Given the description of an element on the screen output the (x, y) to click on. 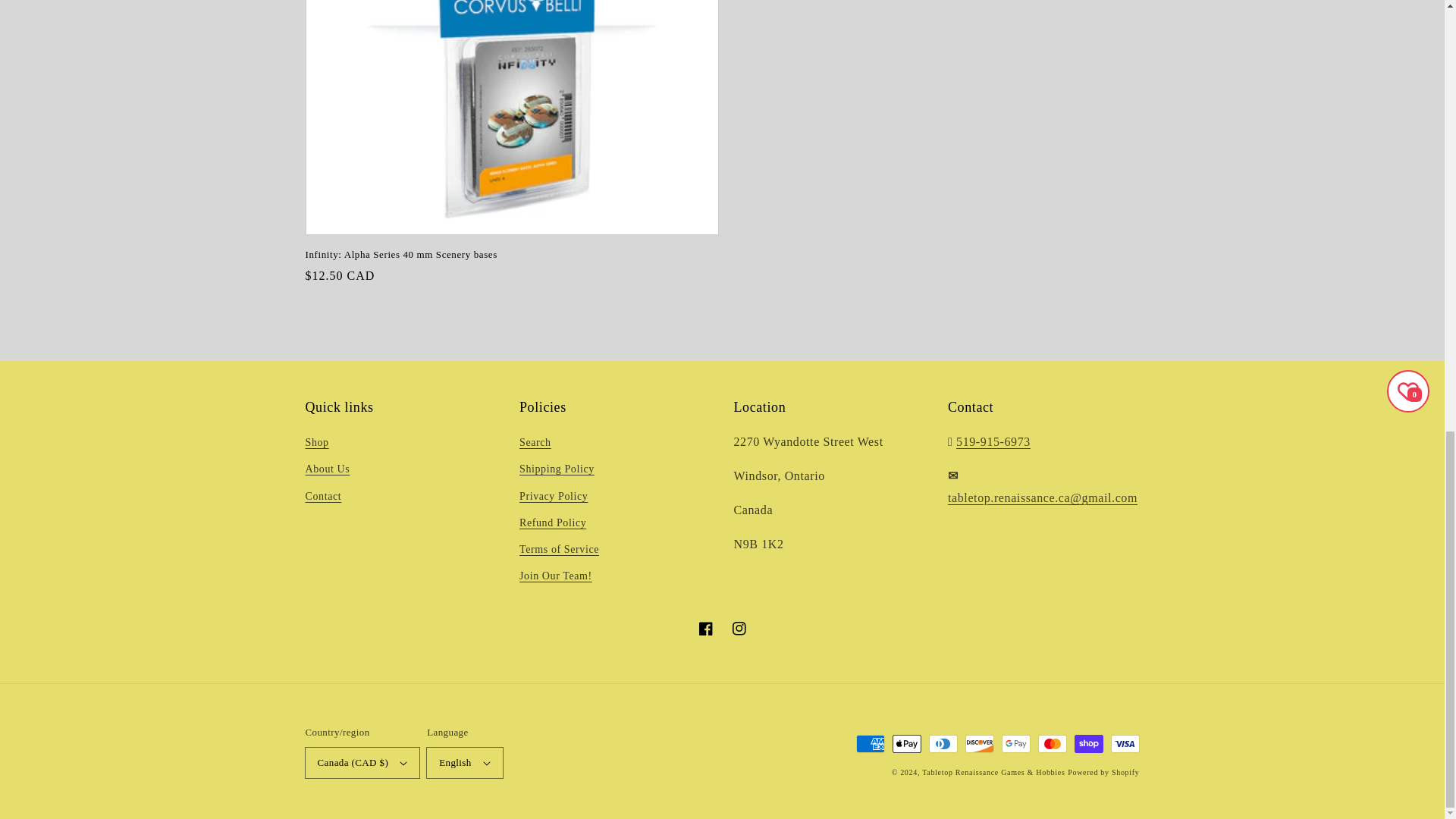
tel:519-915-6973 (993, 440)
